Given the description of an element on the screen output the (x, y) to click on. 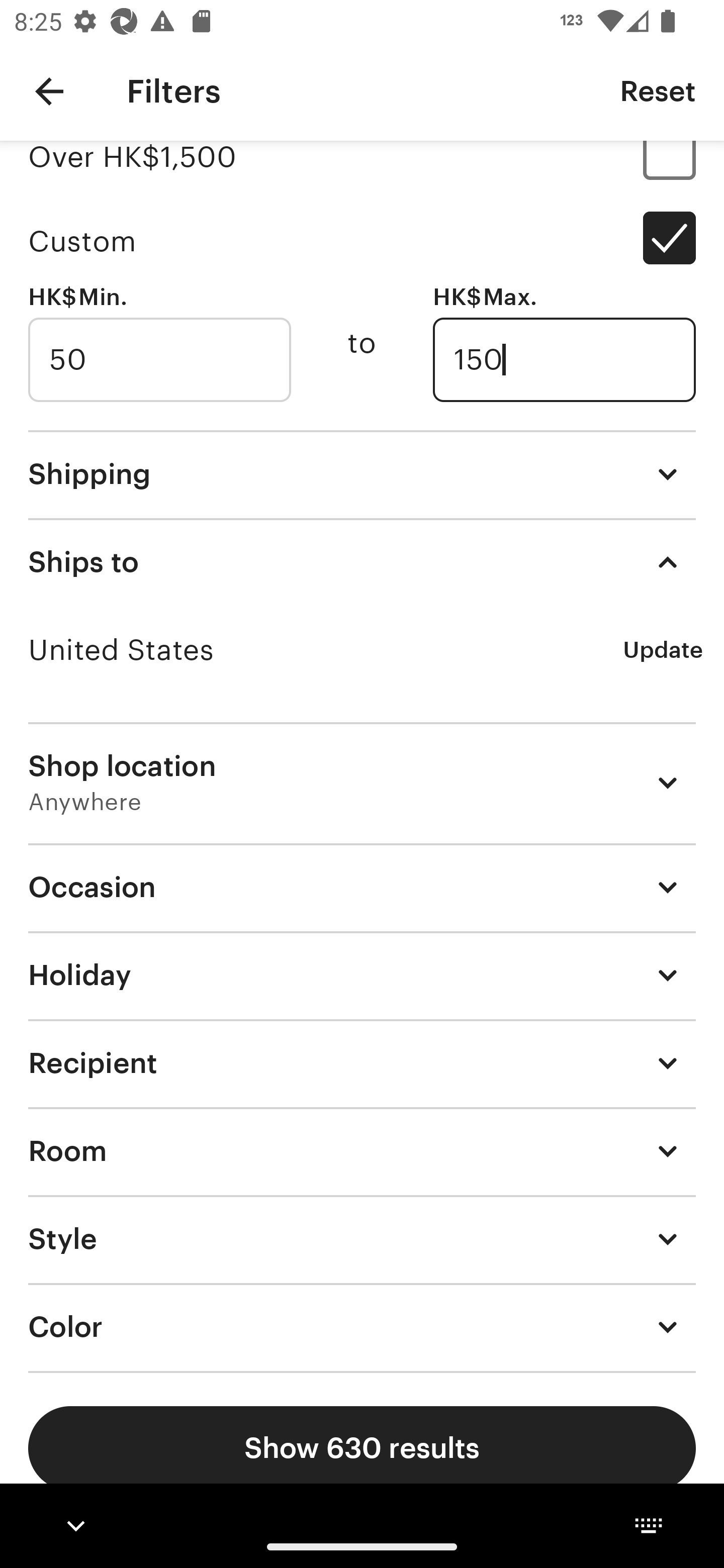
Navigate up (49, 91)
Reset (657, 90)
Over HK$1,500 (362, 170)
Custom (362, 241)
50 (159, 359)
150 (563, 359)
Shipping (362, 473)
Ships to (362, 561)
Update (662, 650)
Shop location Anywhere (362, 782)
Occasion (362, 887)
Holiday (362, 975)
Recipient (362, 1063)
Room (362, 1150)
Style (362, 1238)
Color (362, 1326)
Show 630 results Show 11,032 results (361, 1448)
